Given the description of an element on the screen output the (x, y) to click on. 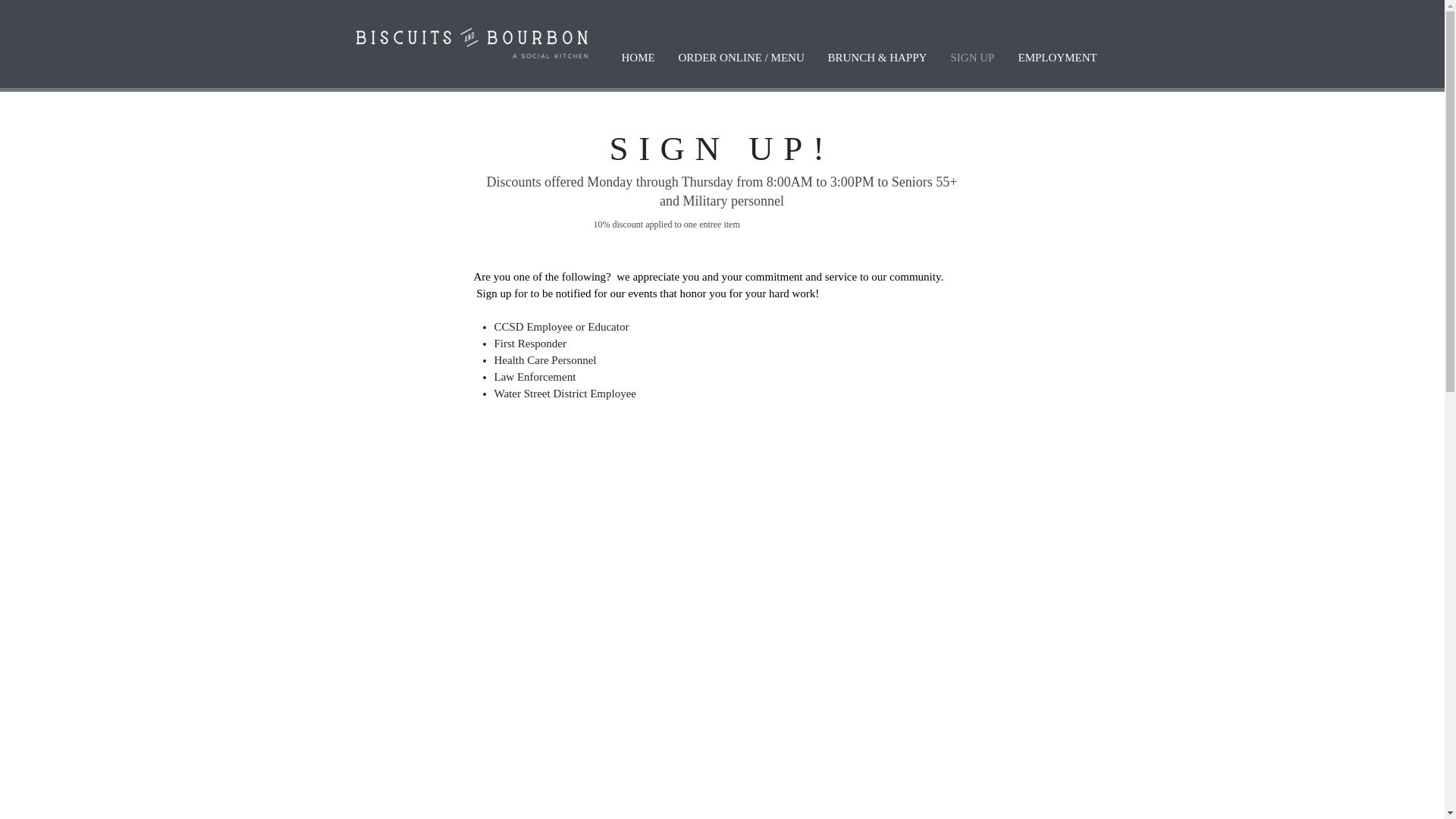
EMPLOYMENT (1057, 57)
HOME (637, 57)
SIGN UP (972, 57)
